Given the description of an element on the screen output the (x, y) to click on. 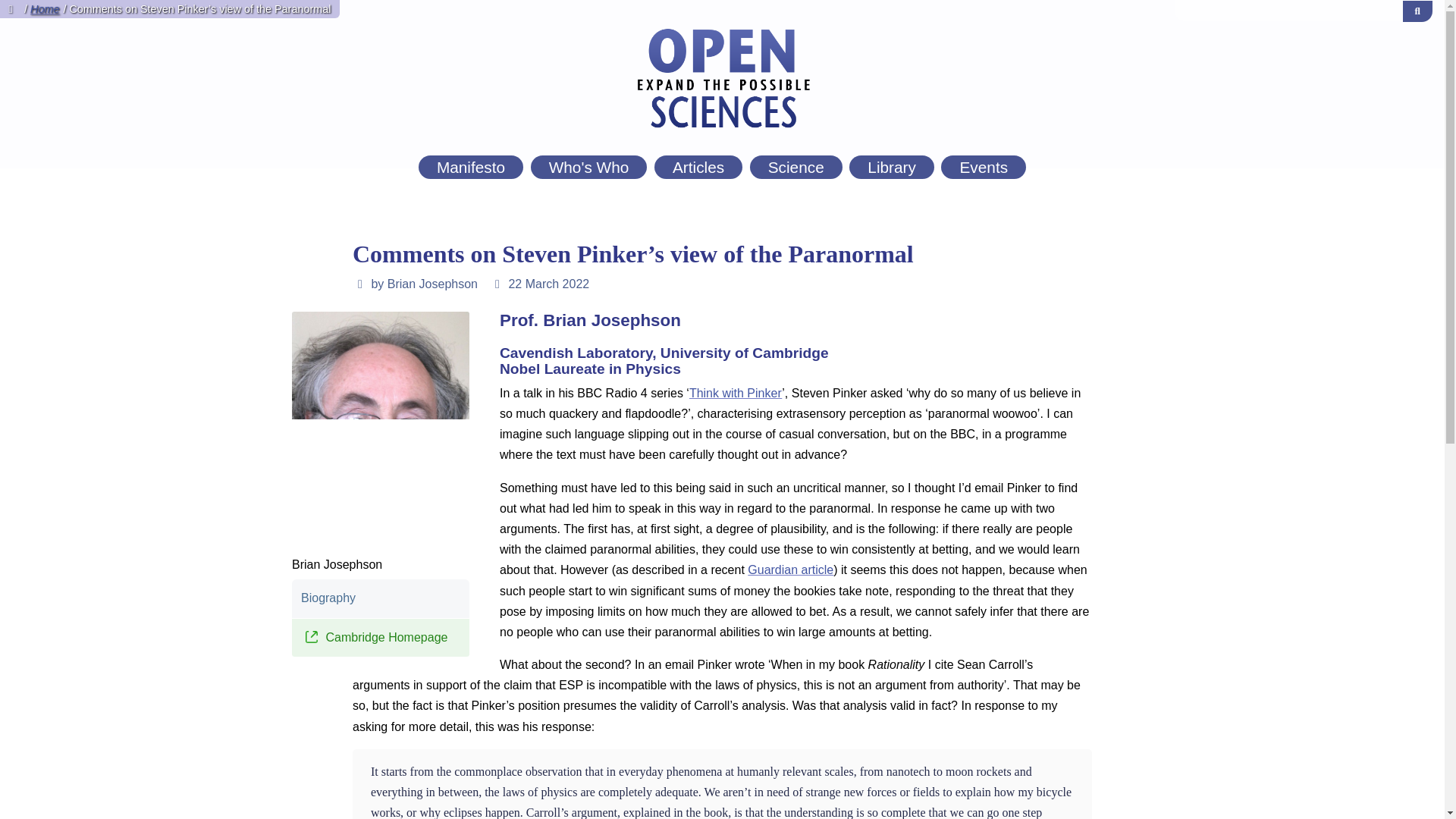
Who's Who (589, 167)
Events (983, 167)
Manifesto (470, 167)
Articles (697, 167)
Cambridge Homepage (380, 638)
Home (44, 9)
Guardian article (790, 569)
Library (891, 167)
Think with Pinker (734, 392)
Science (796, 167)
Biography (380, 598)
